Given the description of an element on the screen output the (x, y) to click on. 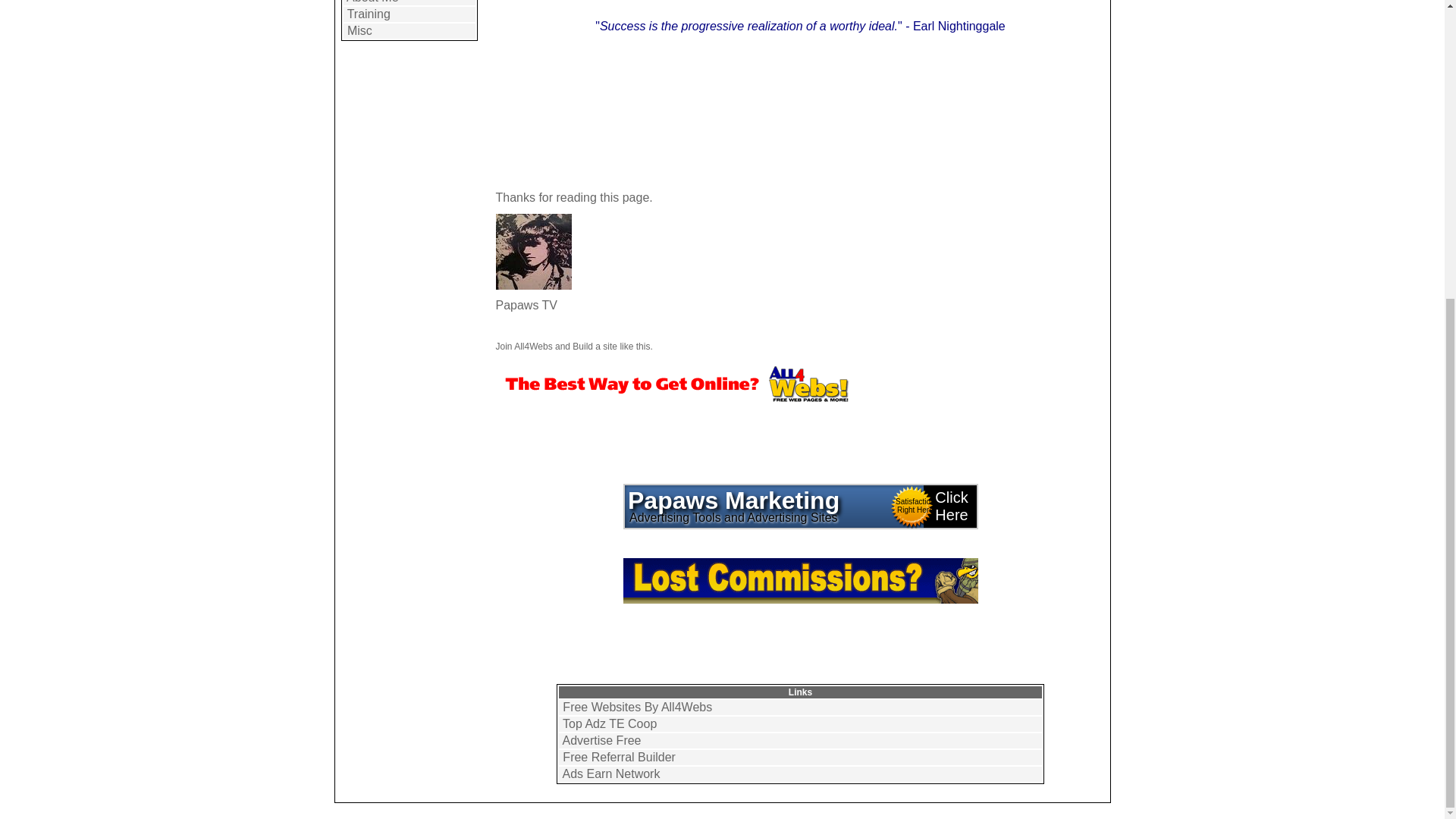
Misc (359, 30)
About Me (371, 2)
Free Referral Builder (618, 757)
Advertise Free (601, 739)
Training (368, 13)
Free Websites By All4Webs (636, 707)
Ads Earn Network (610, 773)
Top Adz TE Coop (609, 723)
